Given the description of an element on the screen output the (x, y) to click on. 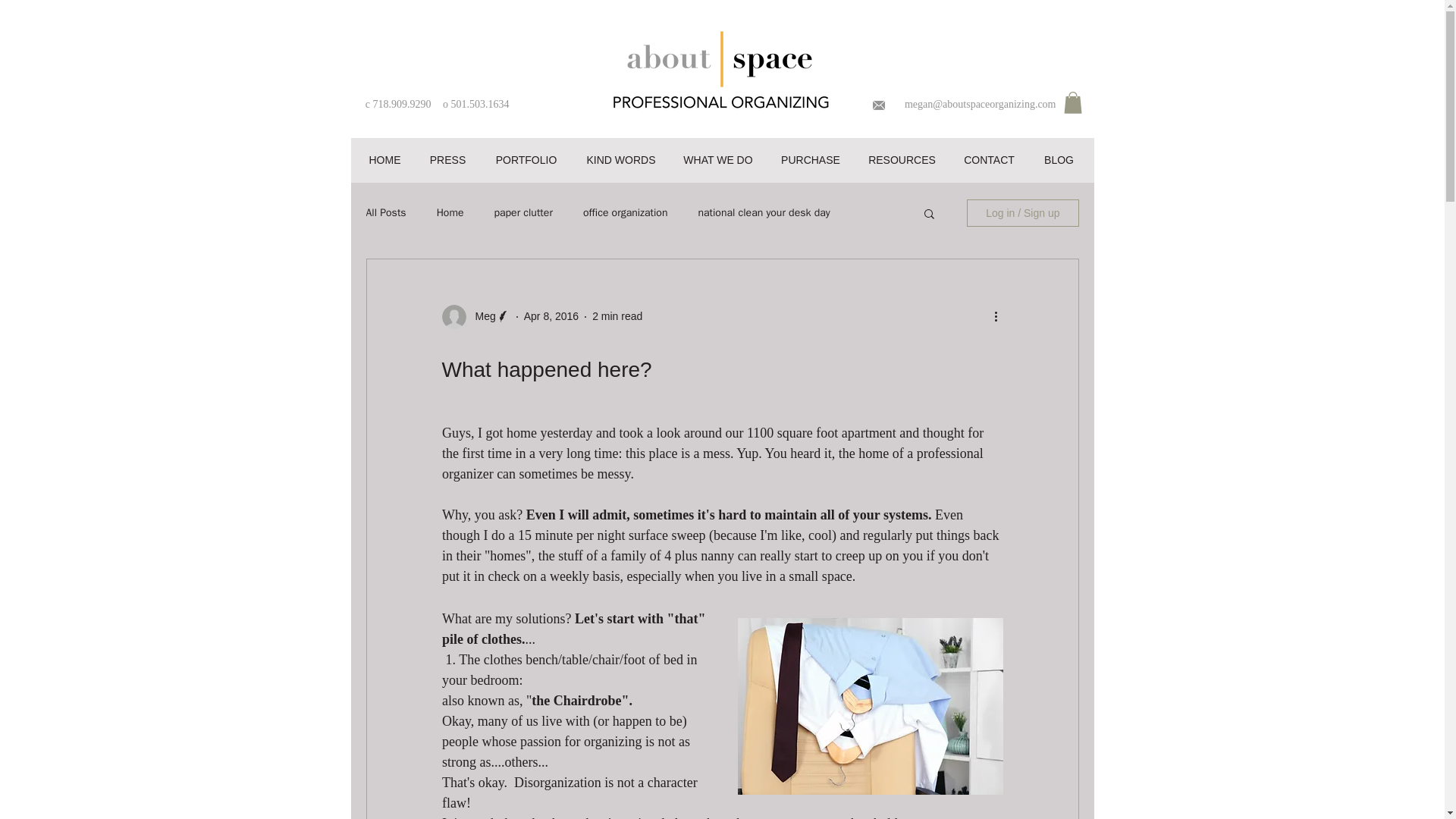
national clean your desk day (763, 213)
Home (450, 213)
o 501.503.1634 (475, 103)
paper clutter (522, 213)
KIND WORDS (620, 159)
PRESS (447, 159)
RESOURCES (901, 159)
2 min read (617, 316)
CONTACT (989, 159)
All Posts (385, 213)
